Given the description of an element on the screen output the (x, y) to click on. 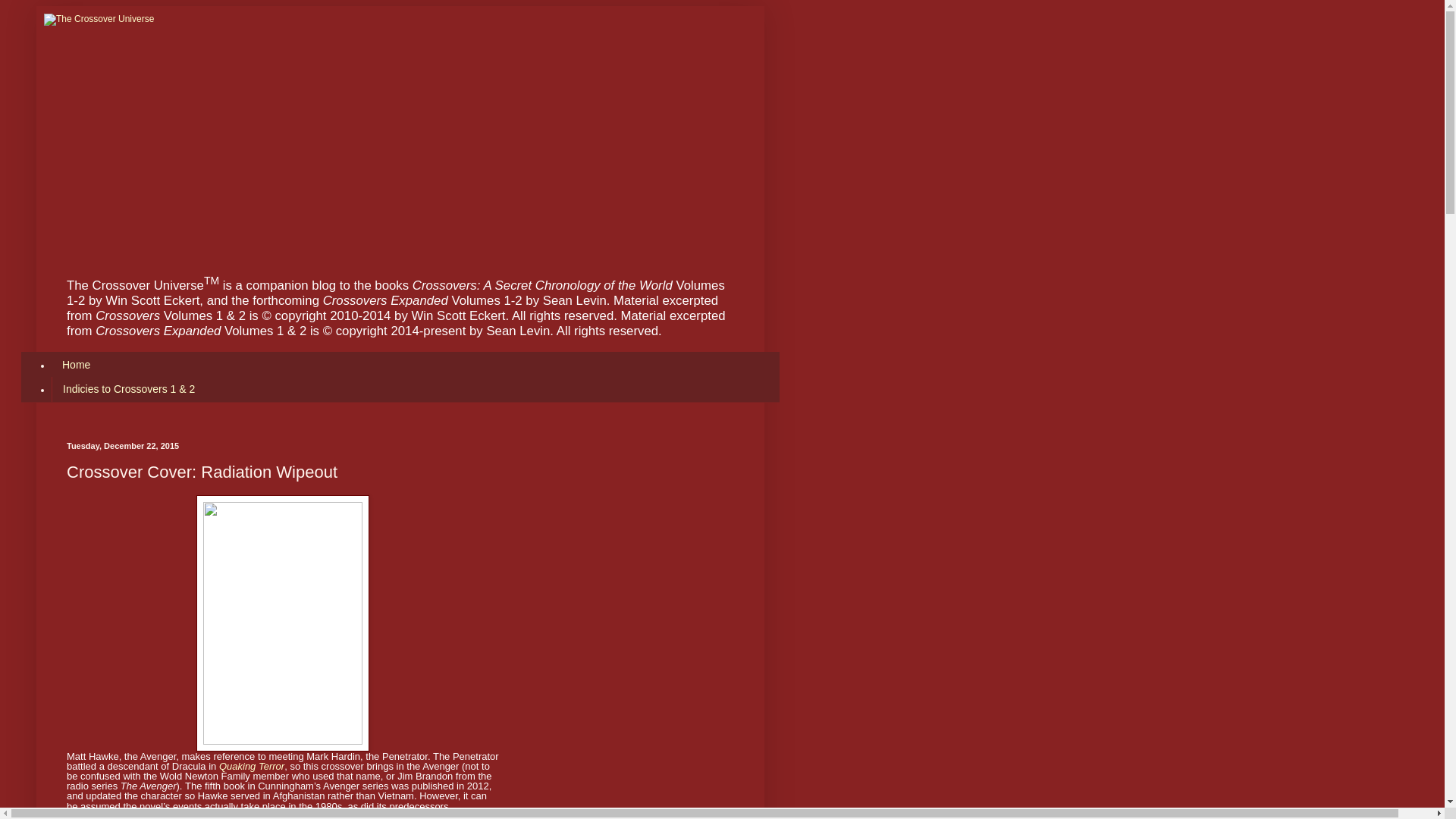
Quaking Terror (251, 766)
Home (75, 364)
